Given the description of an element on the screen output the (x, y) to click on. 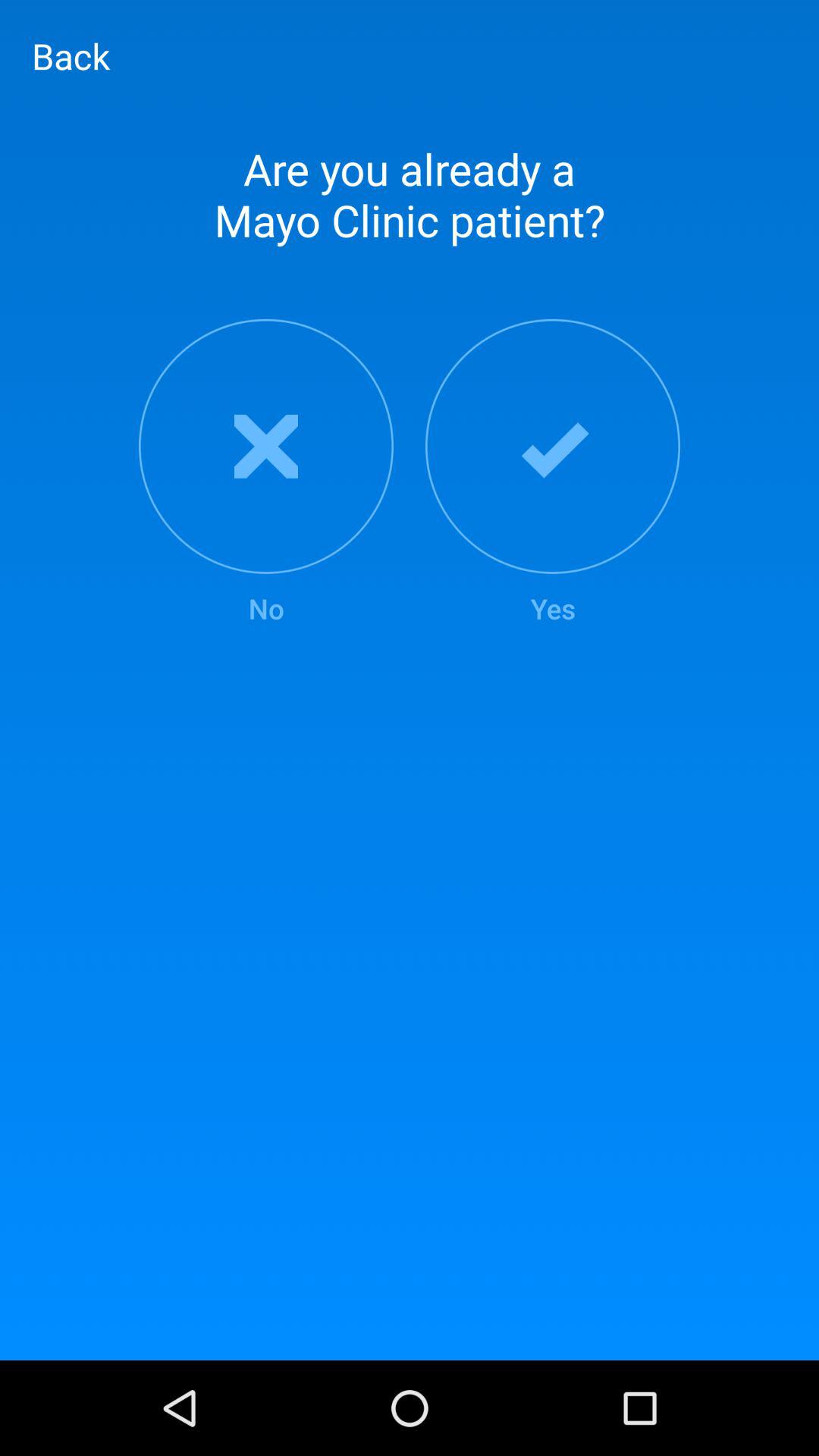
choose the icon to the right of the no item (552, 473)
